Given the description of an element on the screen output the (x, y) to click on. 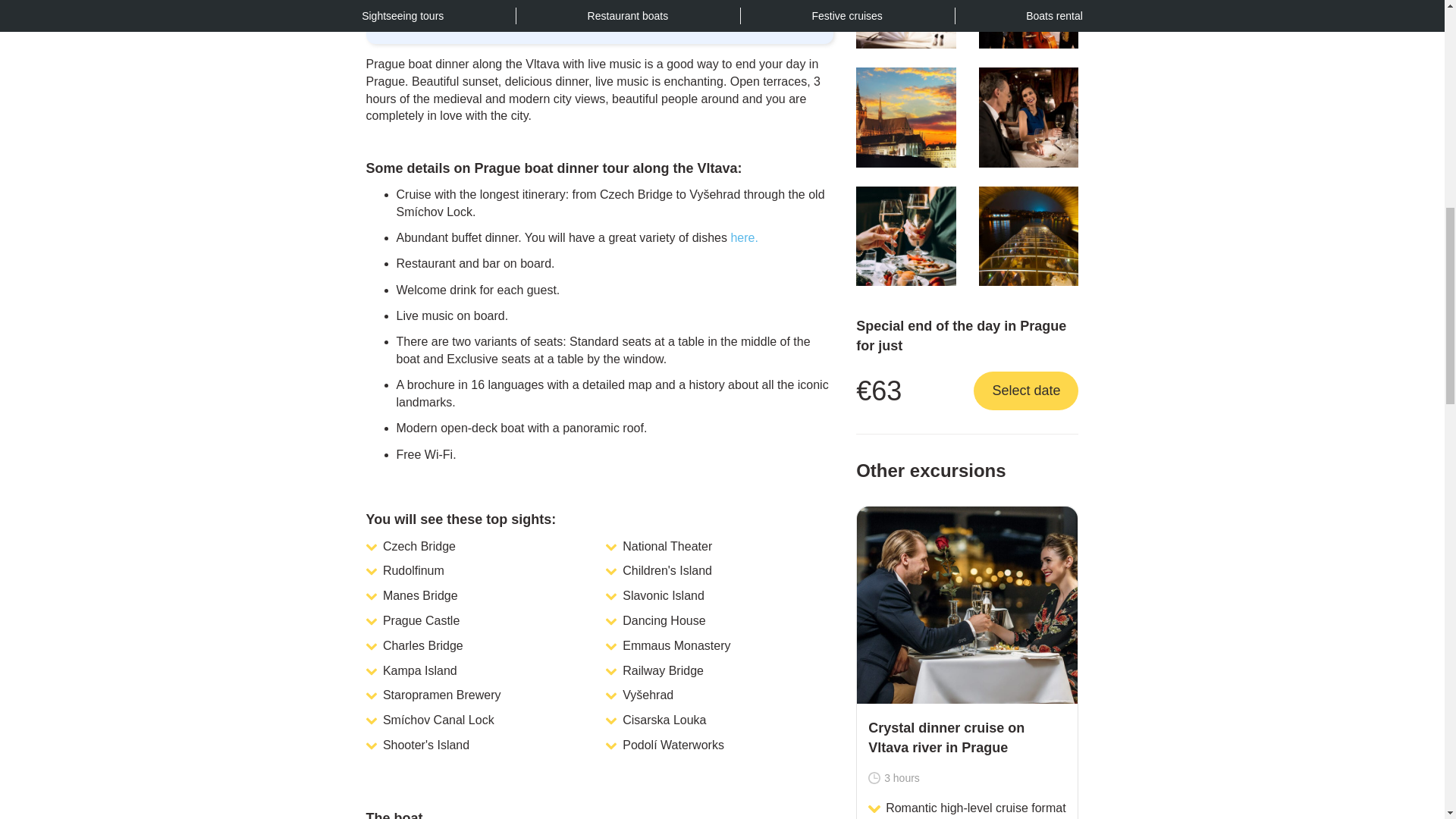
Crystal dinner cruise on Vltava river in Prague (967, 604)
Select date (1026, 391)
here. (743, 237)
Crystal dinner cruise on Vltava river in Prague (966, 738)
You will see these top sights: (575, 519)
